Given the description of an element on the screen output the (x, y) to click on. 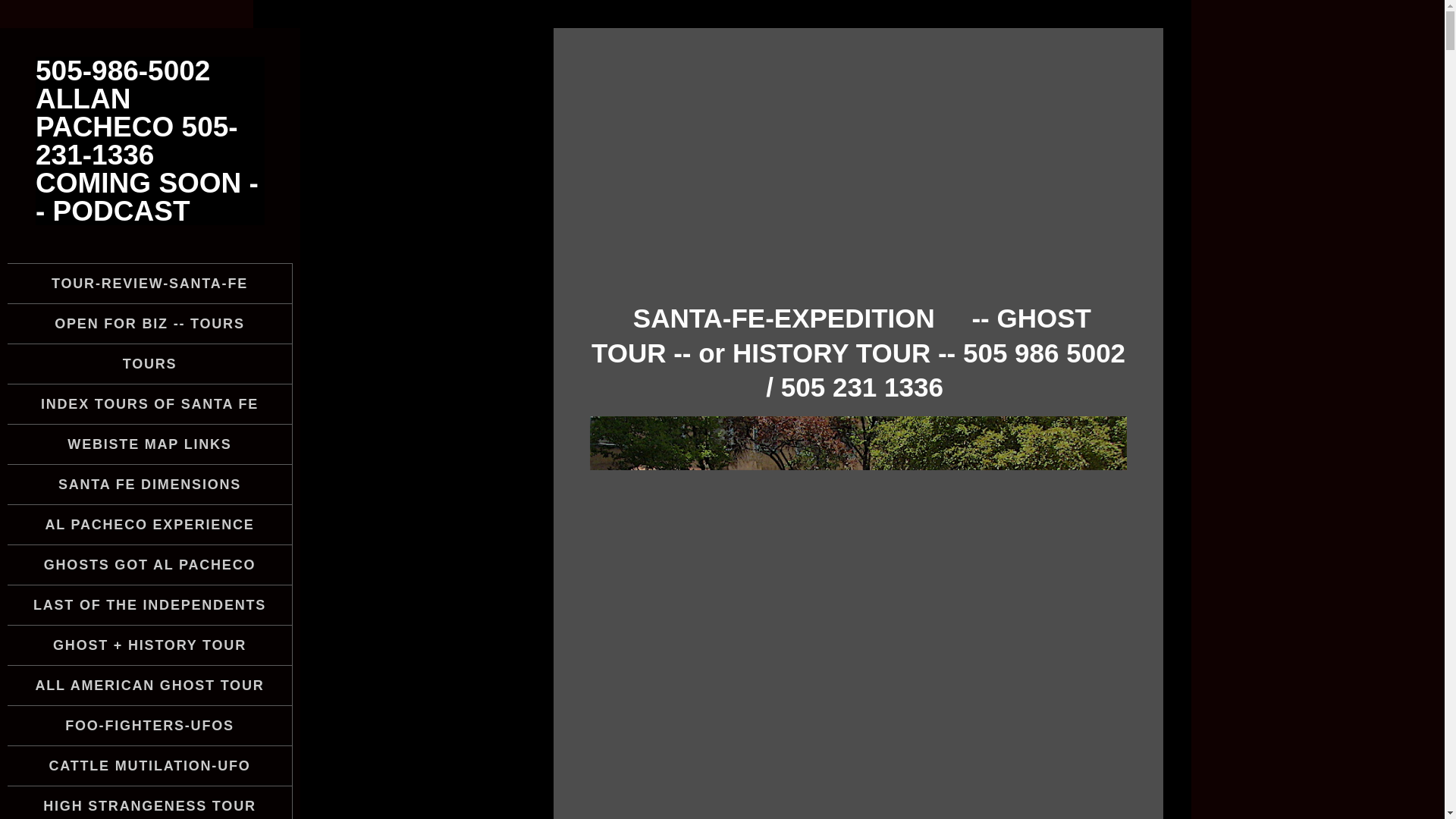
GHOSTS GOT AL PACHECO (149, 564)
SANTA FE DIMENSIONS (149, 484)
HIGH STRANGENESS TOUR (149, 802)
INDEX TOURS OF SANTA FE (149, 404)
TOURS (149, 363)
WEBISTE MAP LINKS (149, 444)
TOUR-REVIEW-SANTA-FE (149, 283)
ALL AMERICAN GHOST TOUR (149, 685)
FOO-FIGHTERS-UFOS (149, 725)
